Given the description of an element on the screen output the (x, y) to click on. 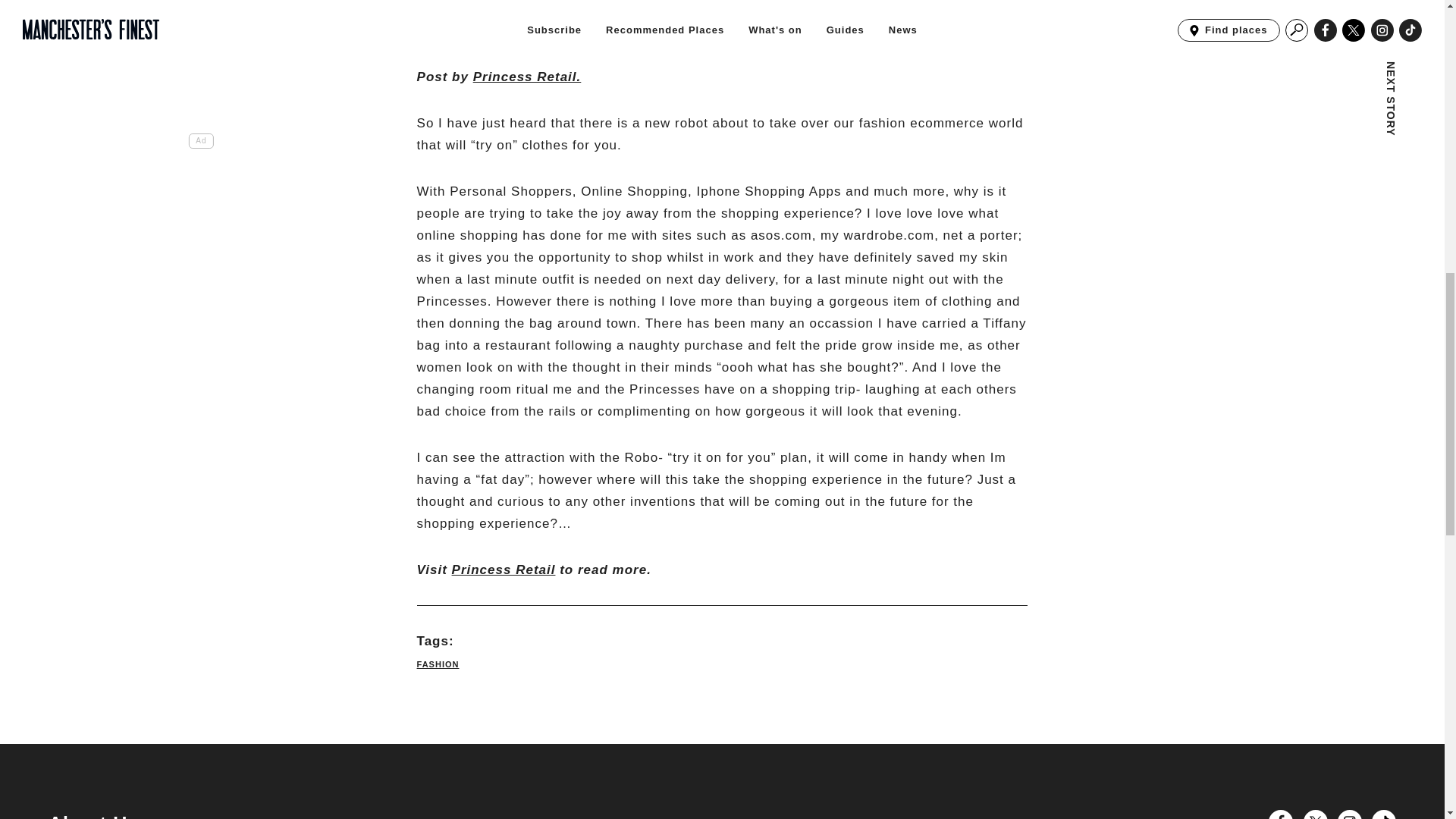
Go to Manchester's Finest TikTok profile (1383, 814)
Go to Manchester's Finest X profile (1315, 814)
Go to Manchester's Finest Facebook page (1280, 814)
Go to Manchester's Finest Instagram profile (1349, 814)
Princess Retail (503, 569)
Princess Retail (526, 76)
